Given the description of an element on the screen output the (x, y) to click on. 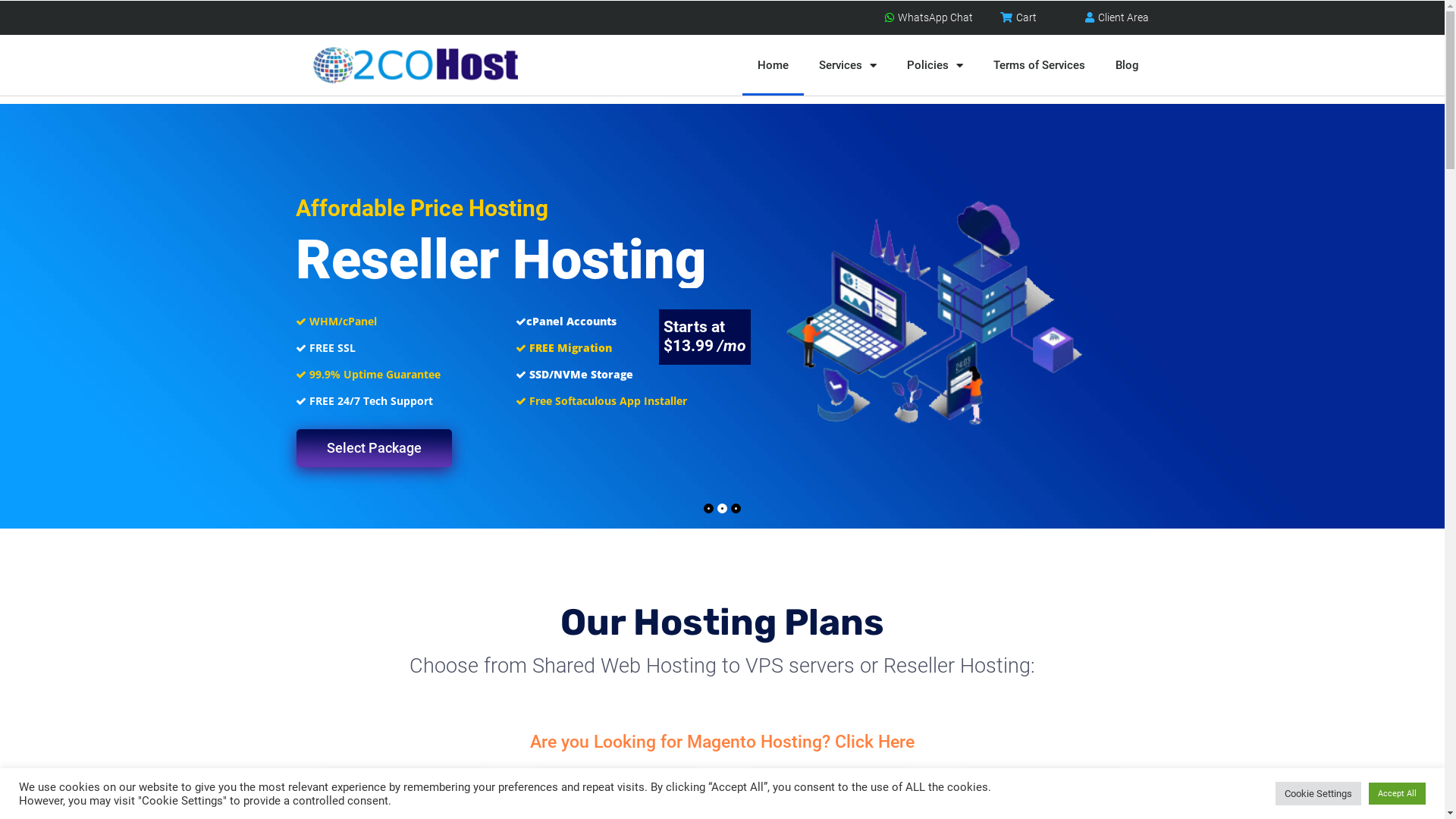
Policies Element type: text (934, 64)
Home Element type: text (772, 64)
Accept All Element type: text (1396, 793)
Cart Element type: text (1017, 17)
Services Element type: text (847, 64)
Are you Looking for Magento Hosting? Click Here Element type: text (722, 741)
WhatsApp Chat Element type: text (927, 17)
Blog Element type: text (1127, 64)
Terms of Services Element type: text (1039, 64)
Cookie Settings Element type: text (1318, 793)
Select Package Element type: text (373, 448)
Client Area Element type: text (1114, 17)
